Given the description of an element on the screen output the (x, y) to click on. 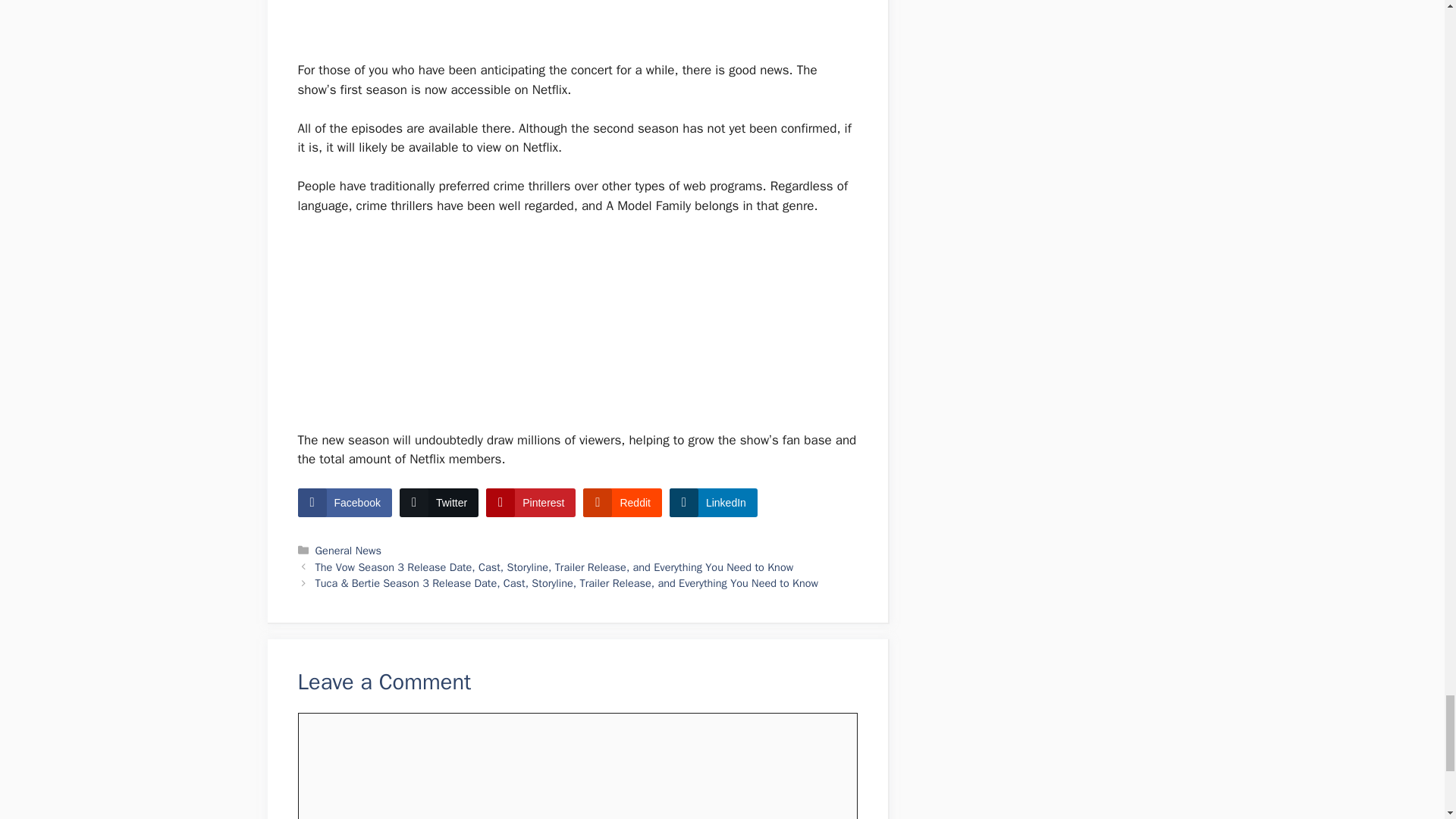
Twitter (438, 502)
General News (348, 550)
Pinterest (530, 502)
Reddit (622, 502)
LinkedIn (713, 502)
Facebook (344, 502)
